Given the description of an element on the screen output the (x, y) to click on. 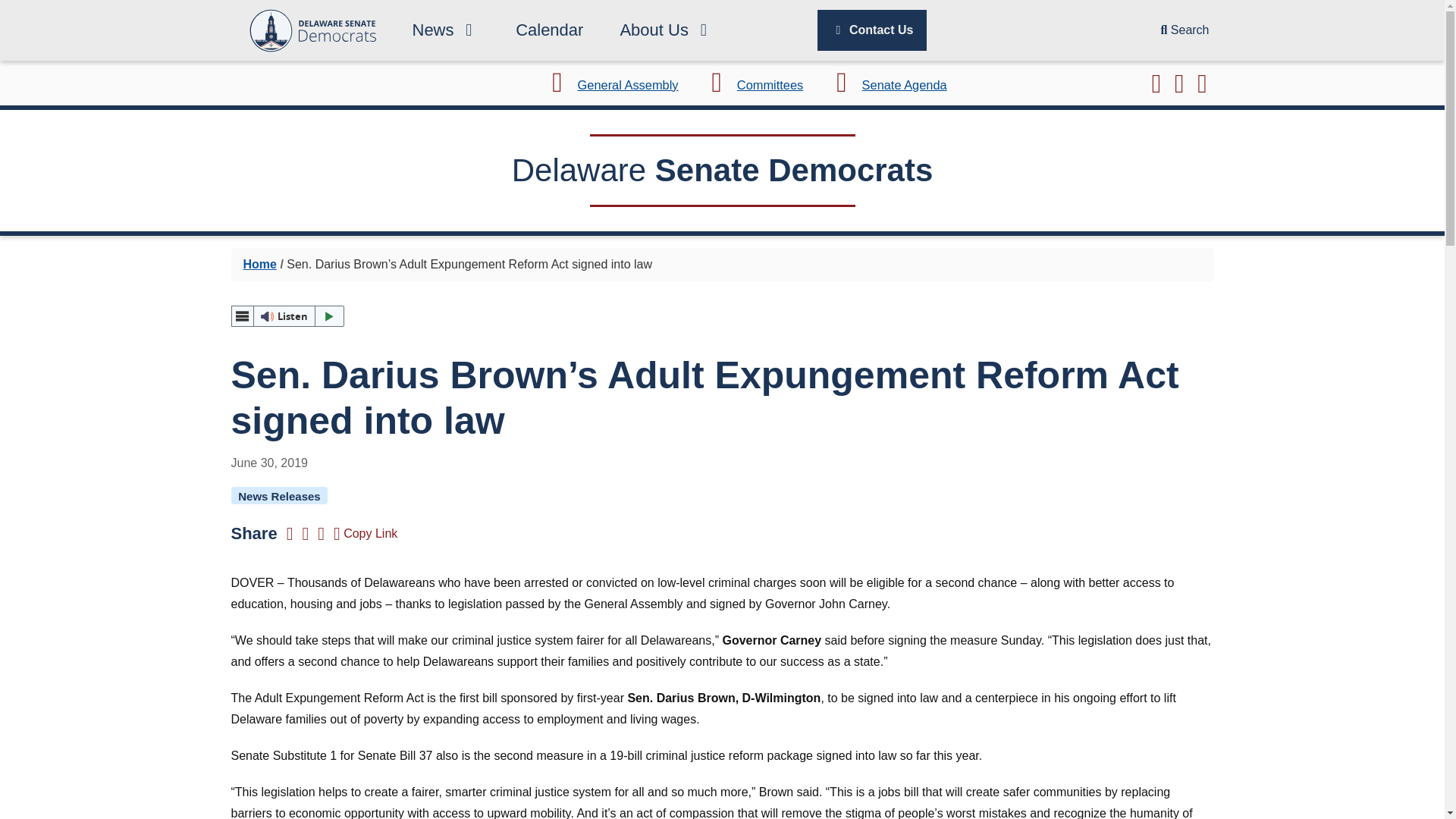
Senate Agenda (885, 84)
News Releases (278, 495)
Copy this url address to your clipboard. (365, 533)
About Us (666, 30)
This external link opens in a new window or tab. (609, 84)
Search (1184, 30)
General Assembly (609, 84)
webReader menu (241, 315)
News (445, 30)
Home (259, 264)
Calendar (549, 30)
Listen to this page using ReadSpeaker (286, 315)
Committees (750, 84)
This external link opens in a new window or tab. (885, 84)
Listen (286, 315)
